Given the description of an element on the screen output the (x, y) to click on. 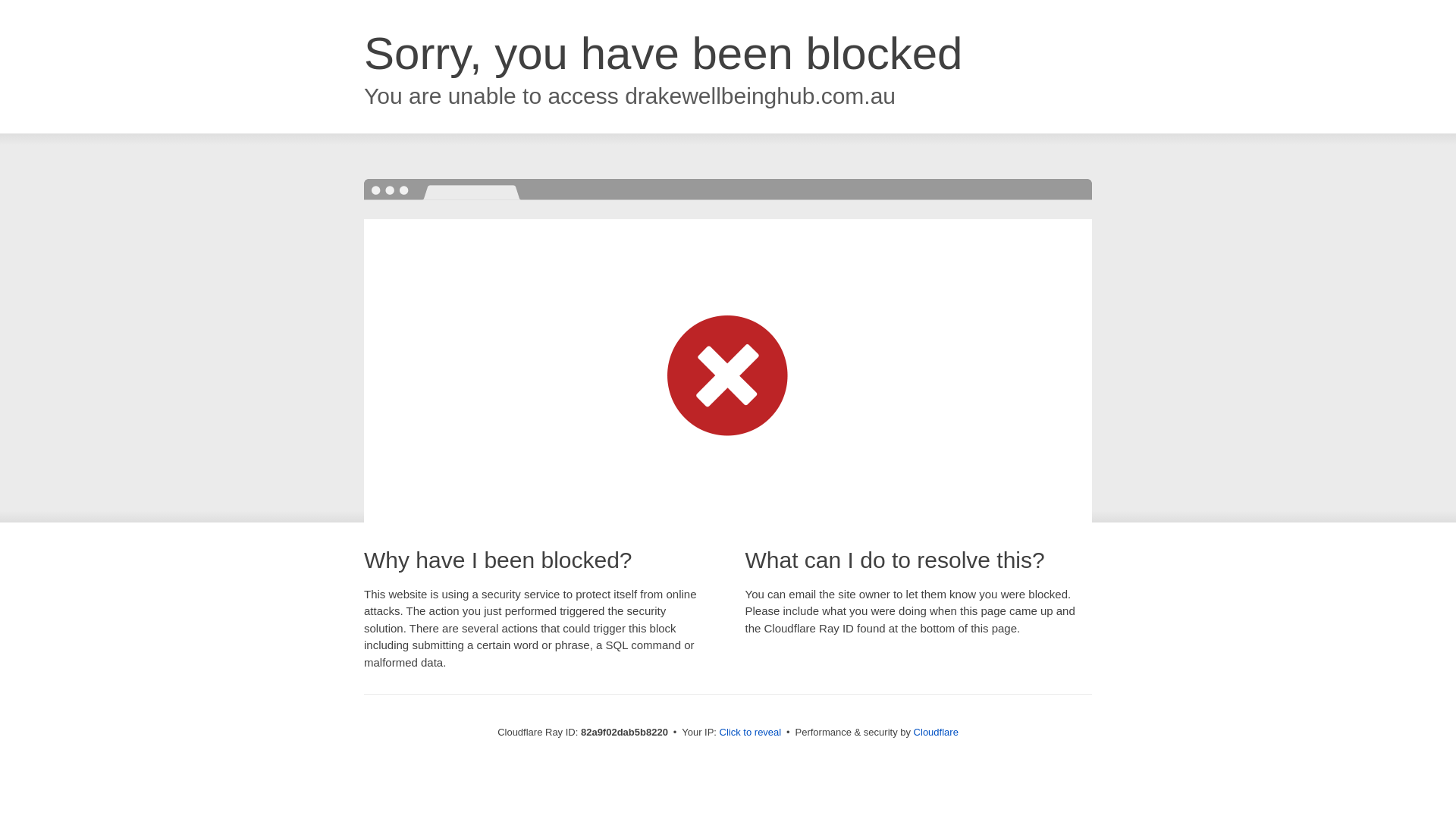
Cloudflare Element type: text (935, 731)
Click to reveal Element type: text (750, 732)
